Given the description of an element on the screen output the (x, y) to click on. 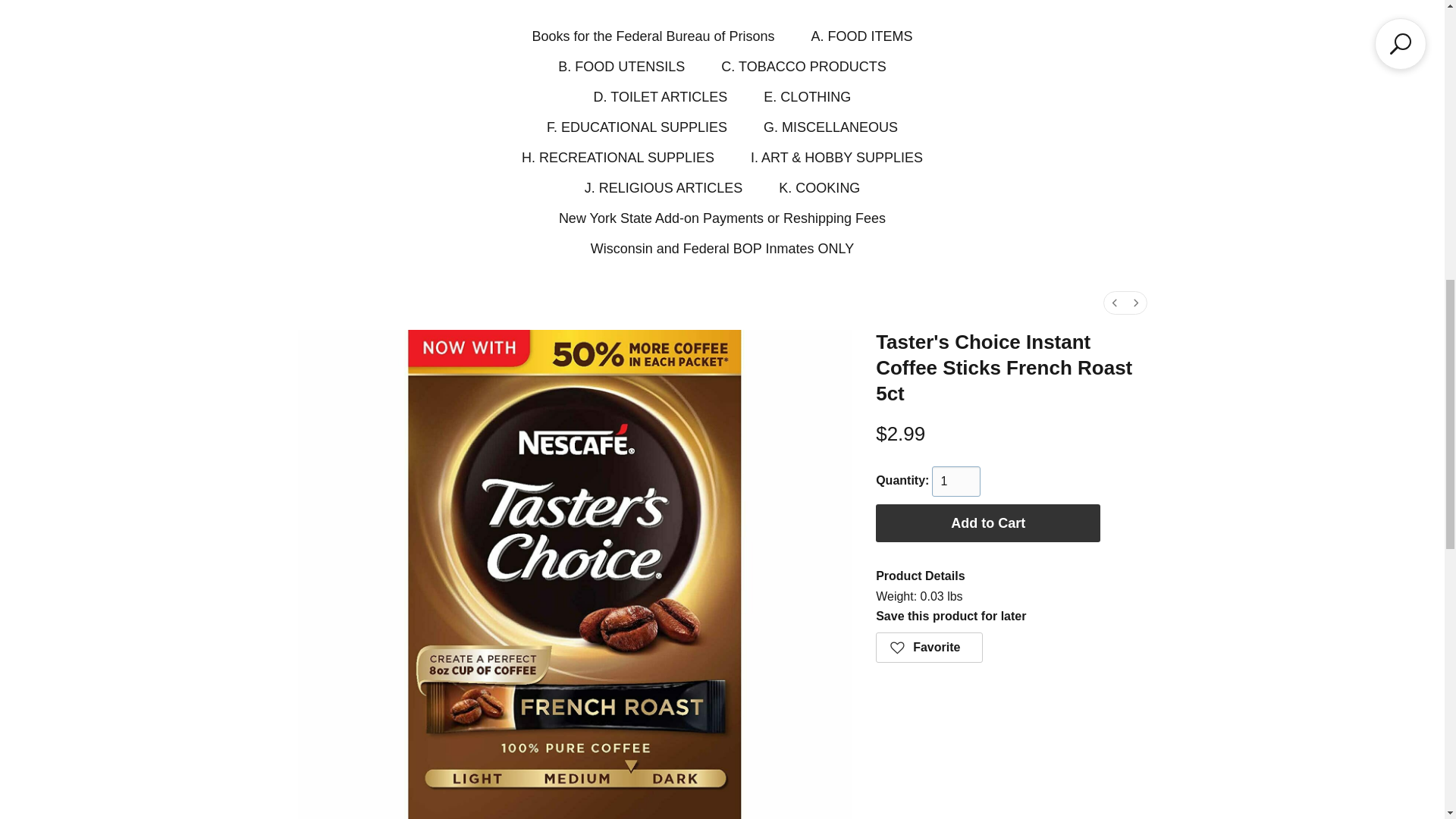
K. COOKING (819, 187)
F. EDUCATIONAL SUPPLIES (636, 127)
D. TOILET ARTICLES (661, 96)
Books for the Federal Bureau of Prisons (652, 36)
H. RECREATIONAL SUPPLIES (617, 157)
C. TOBACCO PRODUCTS (802, 66)
B. FOOD UTENSILS (620, 66)
E. CLOTHING (806, 96)
J. RELIGIOUS ARTICLES (663, 187)
A. FOOD ITEMS (861, 36)
G. MISCELLANEOUS (830, 127)
